Given the description of an element on the screen output the (x, y) to click on. 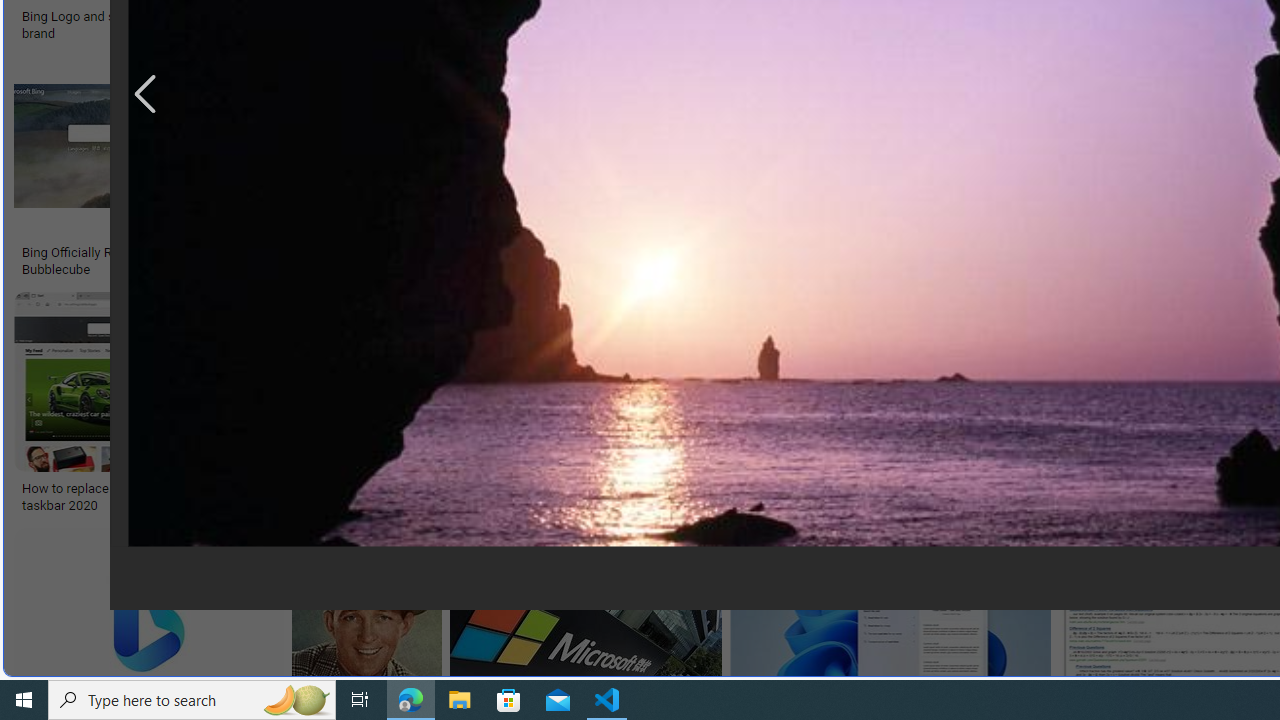
Bing - SEOLend (489, 253)
Bing Logo and symbol, meaning, history, PNG, brand (170, 24)
Bing Logo and symbol, meaning, history, PNG, brand (170, 24)
